Given the description of an element on the screen output the (x, y) to click on. 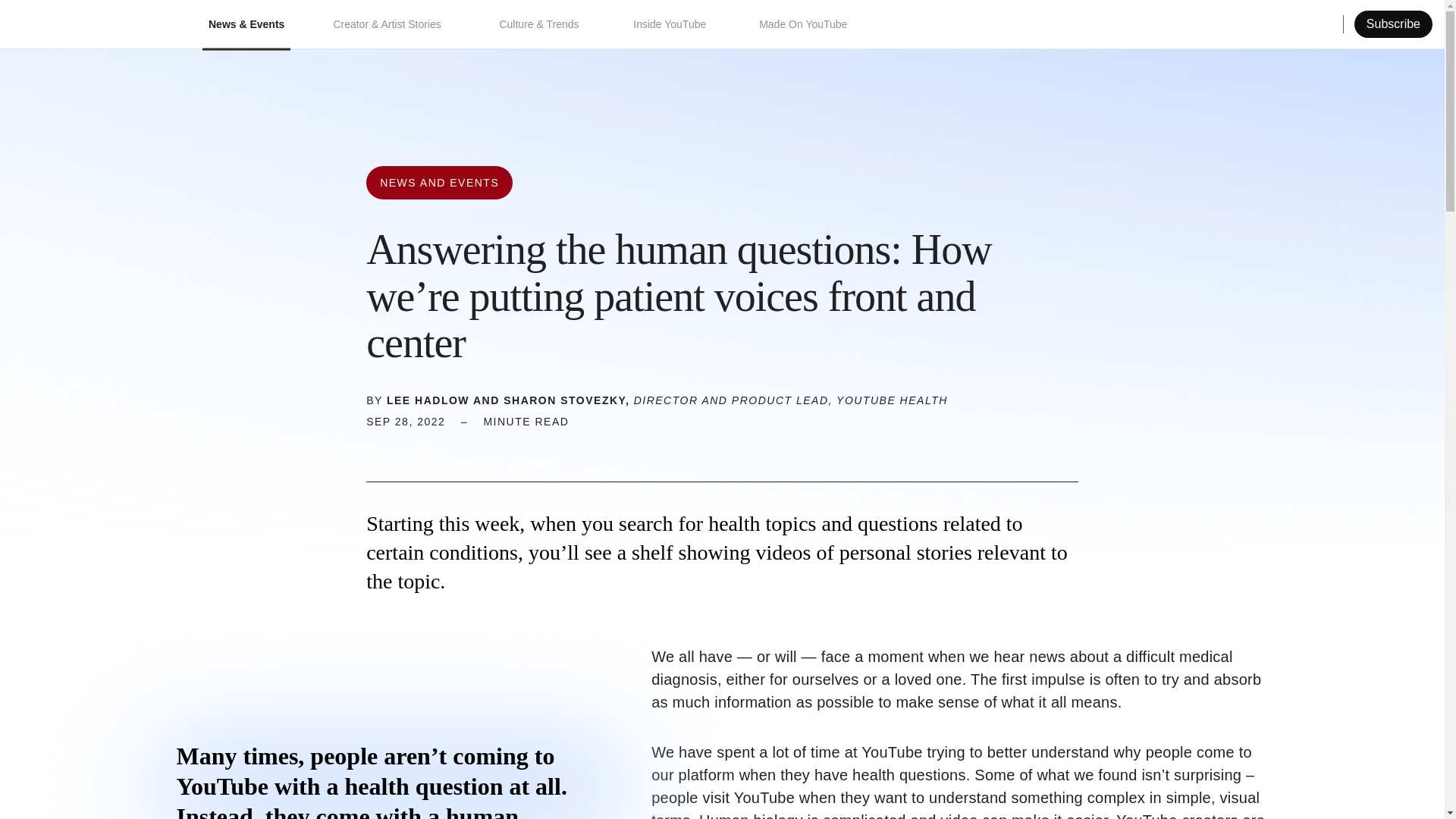
Subscribe (1393, 23)
Inside YouTube (671, 24)
Copy link (1375, 24)
Inside YouTube (671, 24)
NEWS AND EVENTS (439, 182)
YouTube Official Blog (90, 24)
Copy link (459, 445)
News and Events (439, 182)
Made On YouTube (804, 24)
Copy link (1375, 24)
Copy link (459, 445)
Made On YouTube (804, 24)
